Given the description of an element on the screen output the (x, y) to click on. 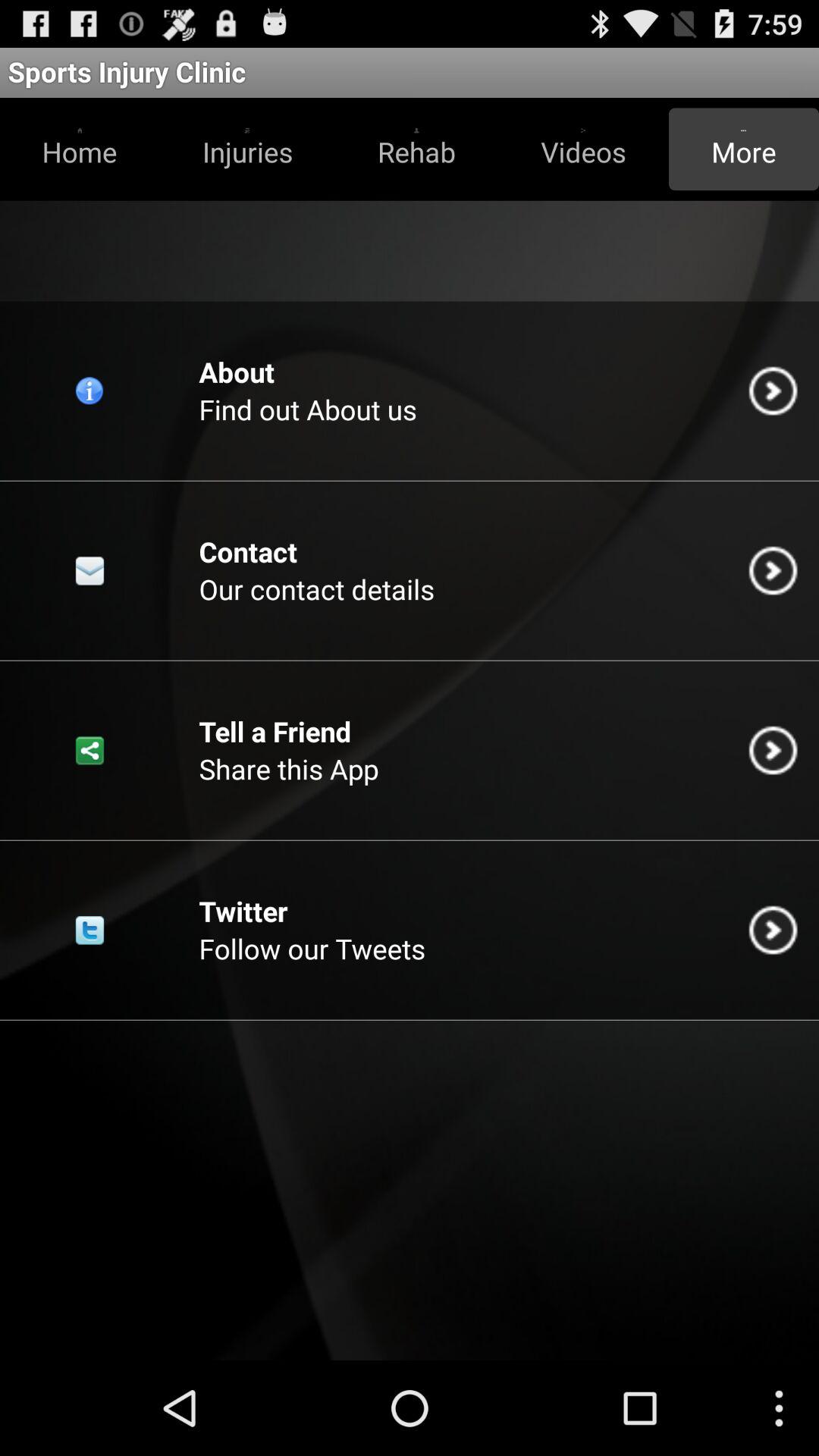
press the twitter item (243, 910)
